Given the description of an element on the screen output the (x, y) to click on. 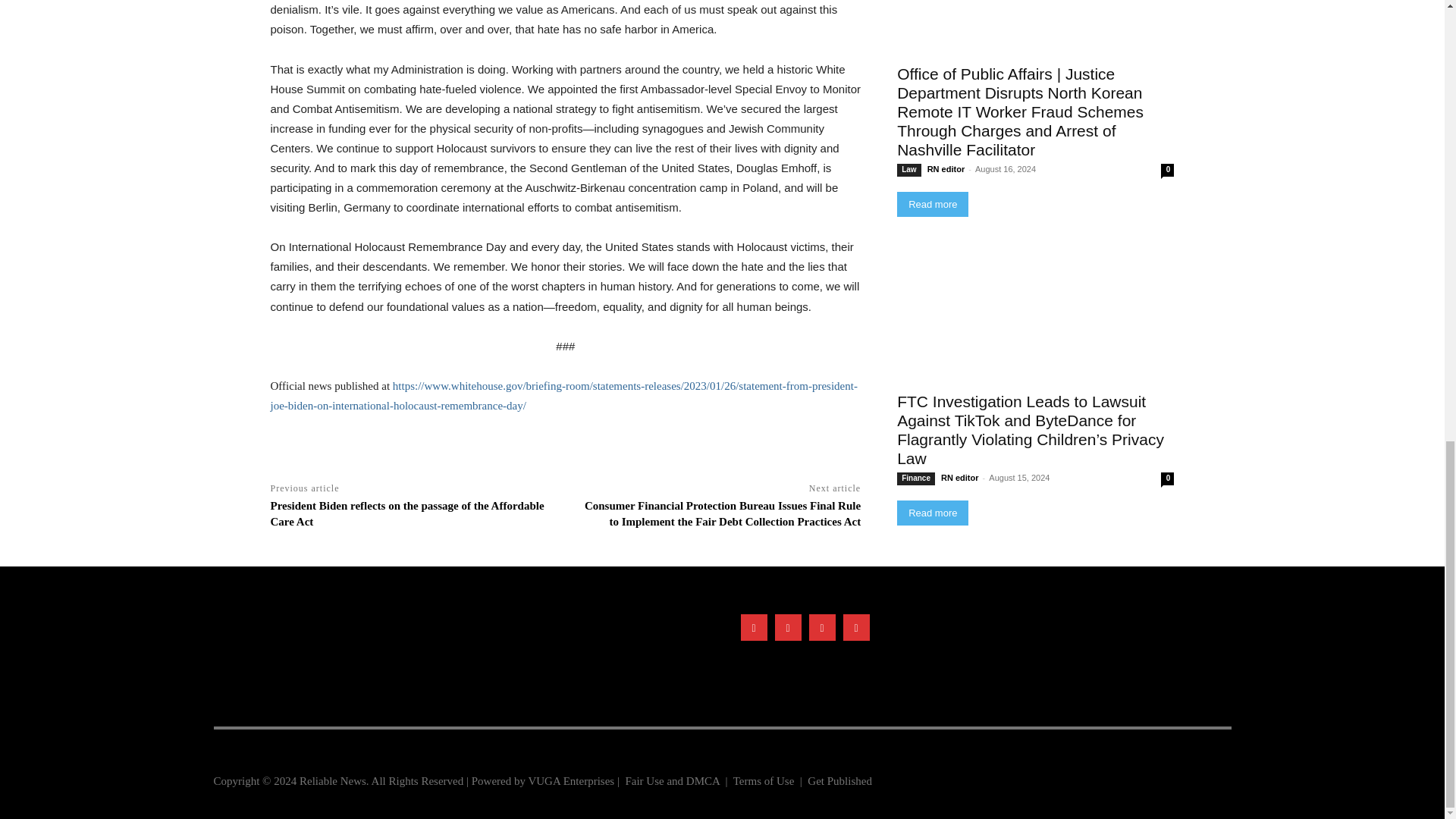
RN editor (946, 168)
Law (908, 169)
0 (1166, 169)
Read more (932, 204)
Read more (932, 204)
